Given the description of an element on the screen output the (x, y) to click on. 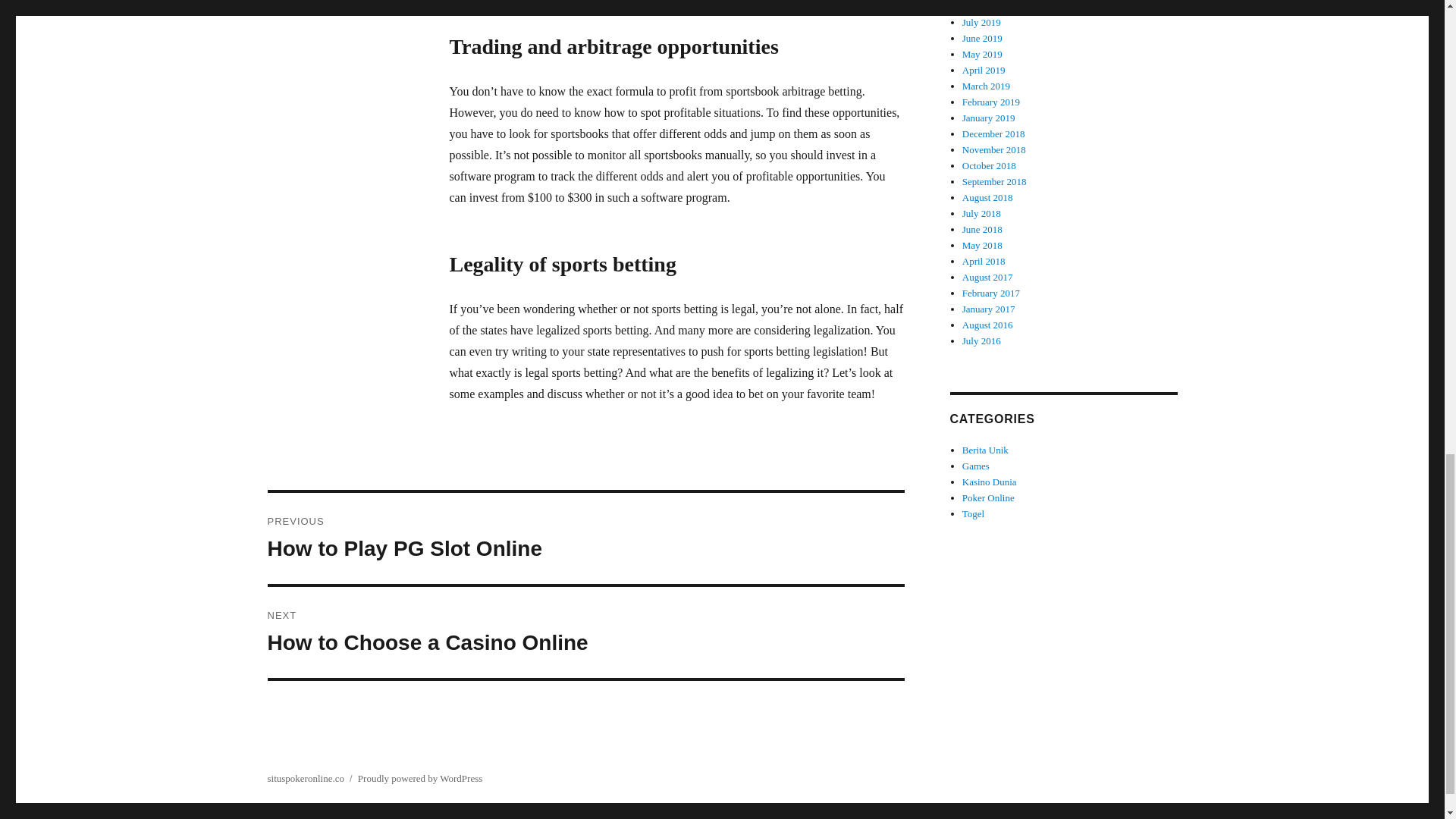
Games (585, 538)
Berita Unik (585, 632)
